Given the description of an element on the screen output the (x, y) to click on. 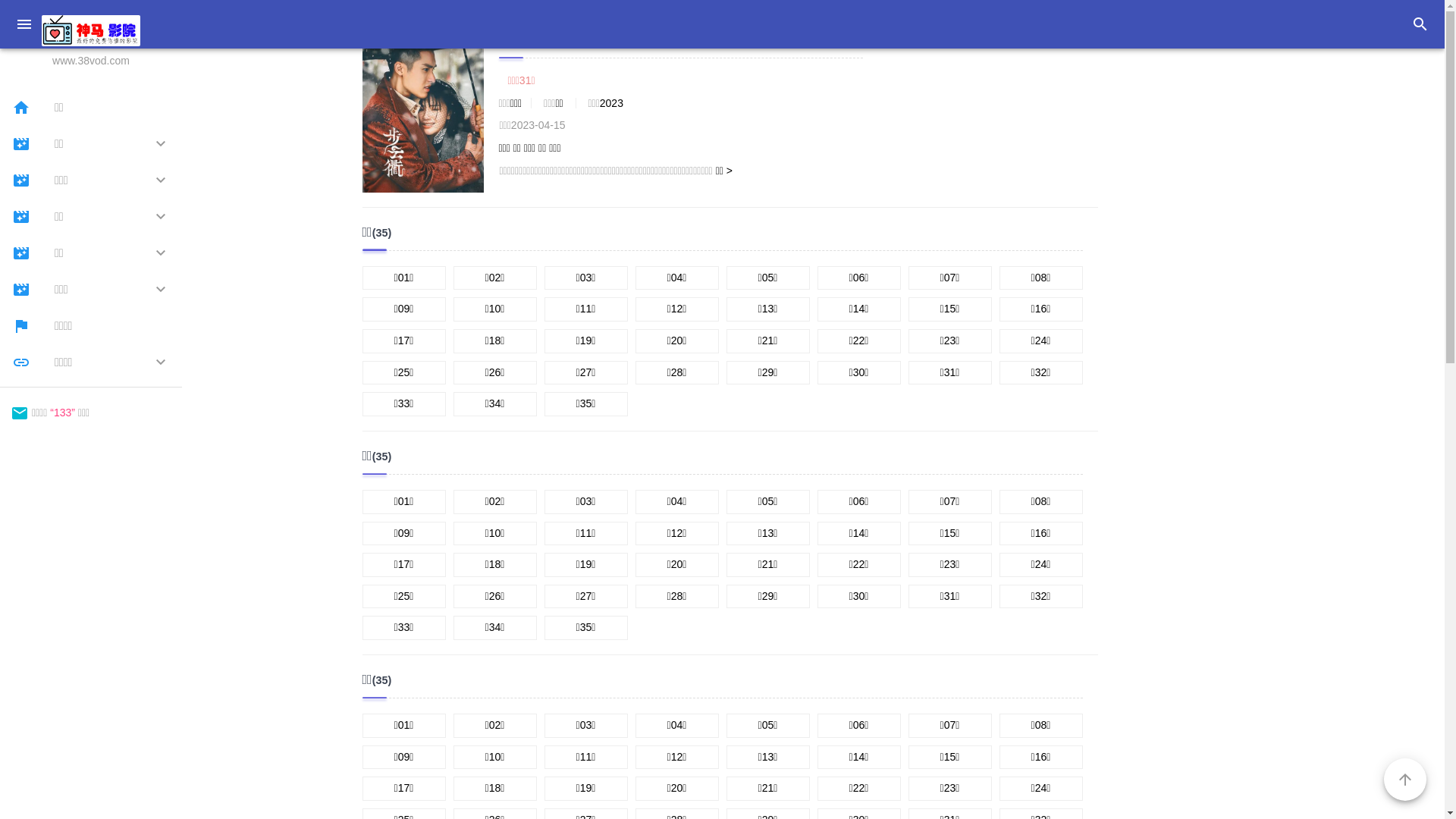
2023 Element type: text (611, 103)
www.38vod.com Element type: text (91, 41)
